Given the description of an element on the screen output the (x, y) to click on. 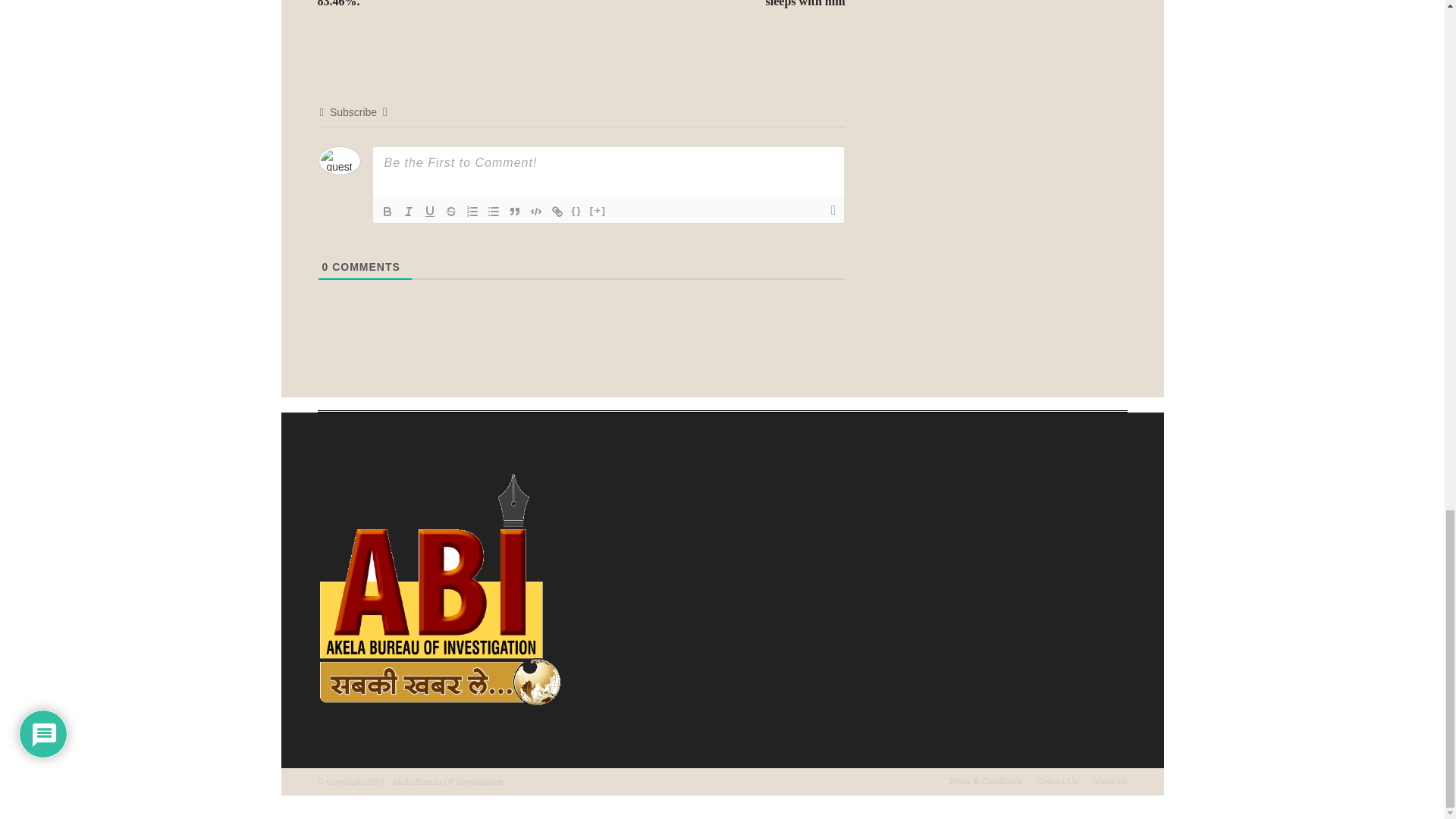
Underline (429, 210)
Italic (408, 210)
Strike (450, 210)
Bold (386, 210)
